Given the description of an element on the screen output the (x, y) to click on. 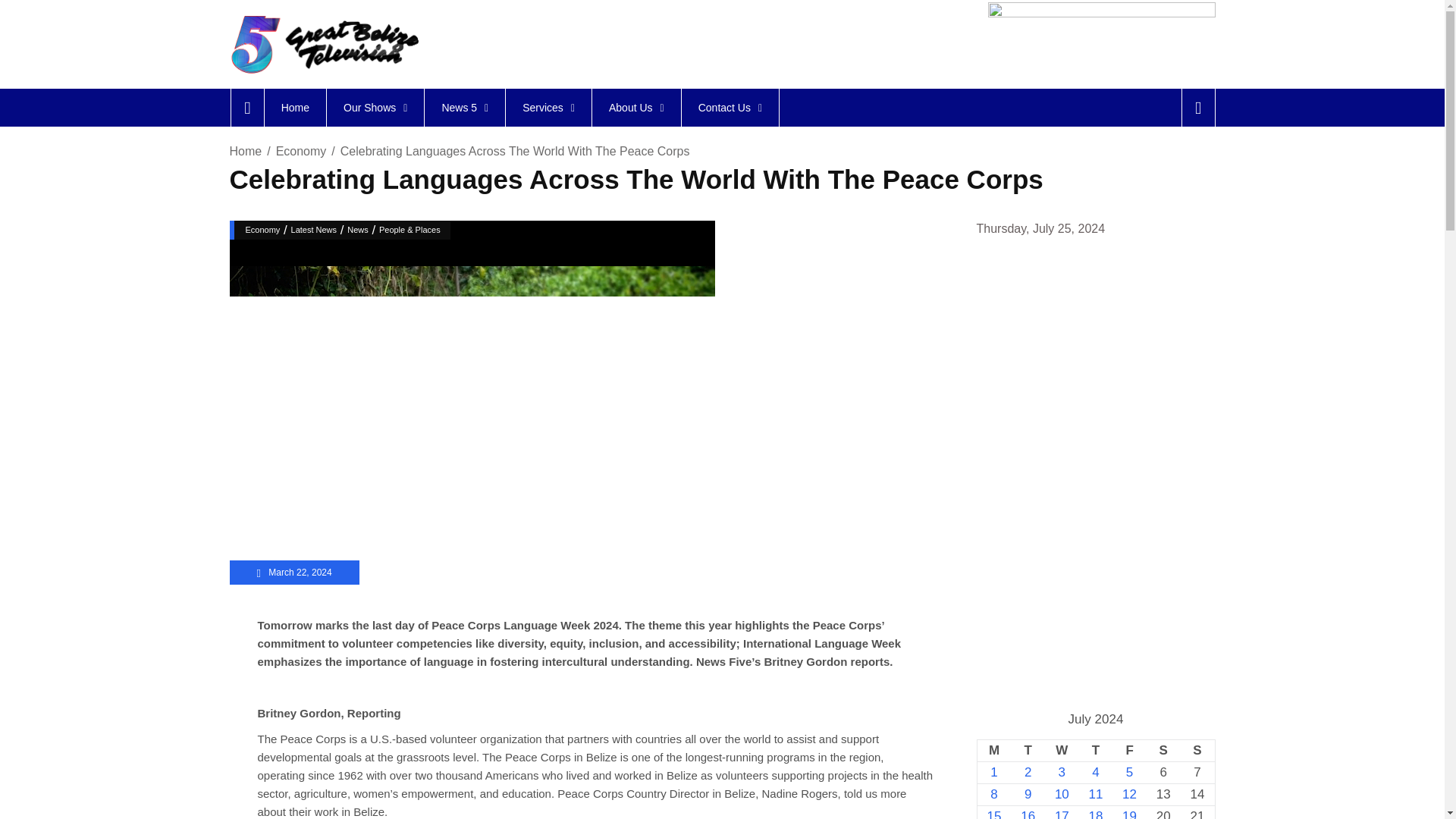
Our Shows (374, 107)
Home (294, 107)
Sunday (1196, 750)
Friday (1129, 750)
Monday (993, 750)
Tuesday (1027, 750)
Thursday (1095, 750)
Saturday (1163, 750)
Wednesday (1061, 750)
